Given the description of an element on the screen output the (x, y) to click on. 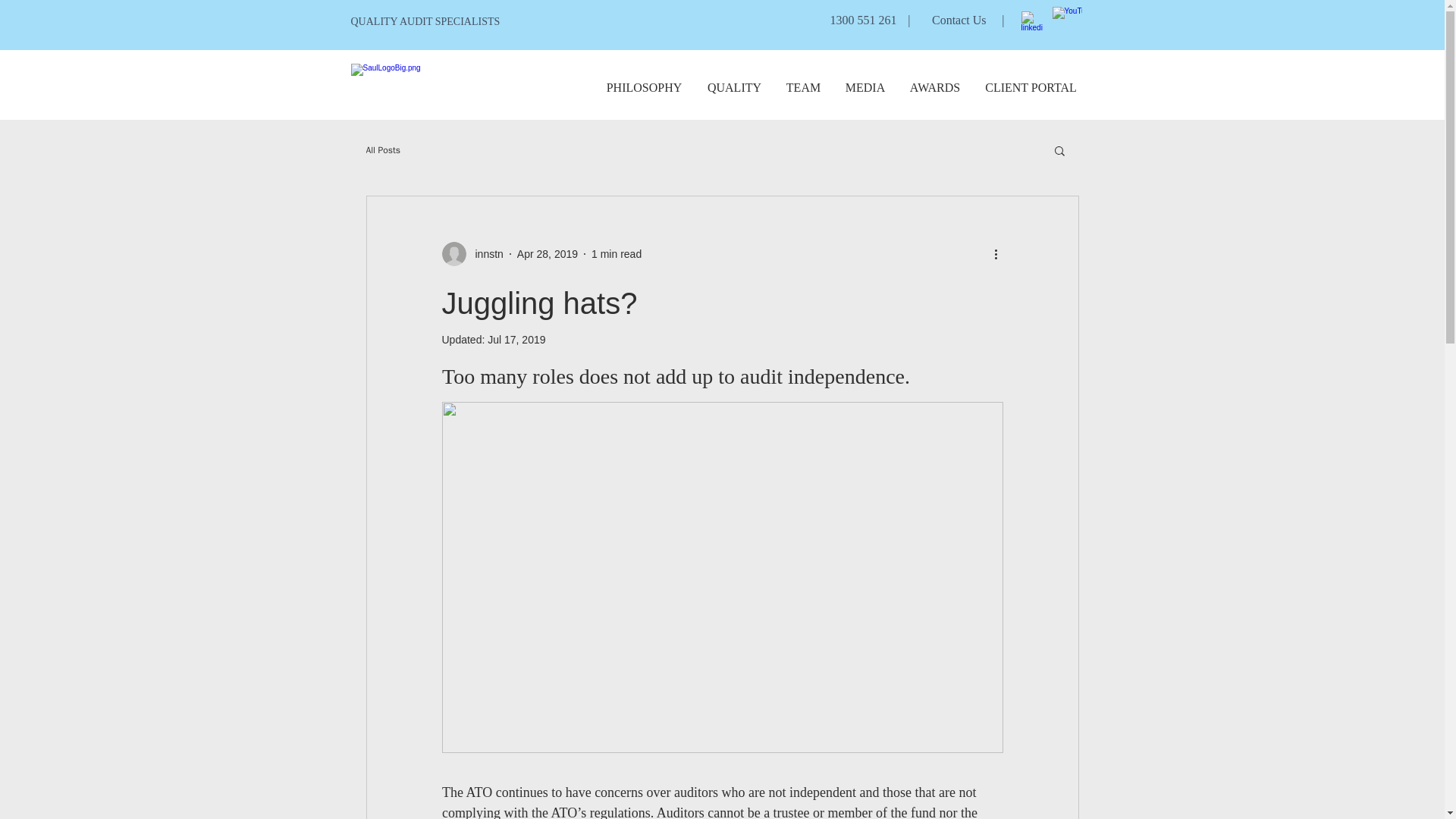
TEAM (802, 87)
All Posts (382, 150)
AWARDS (935, 87)
MEDIA (864, 87)
1300 551 261 (862, 19)
Jul 17, 2019 (515, 339)
QUALITY (733, 87)
PHILOSOPHY (643, 87)
innstn (483, 253)
innstn (471, 253)
